Given the description of an element on the screen output the (x, y) to click on. 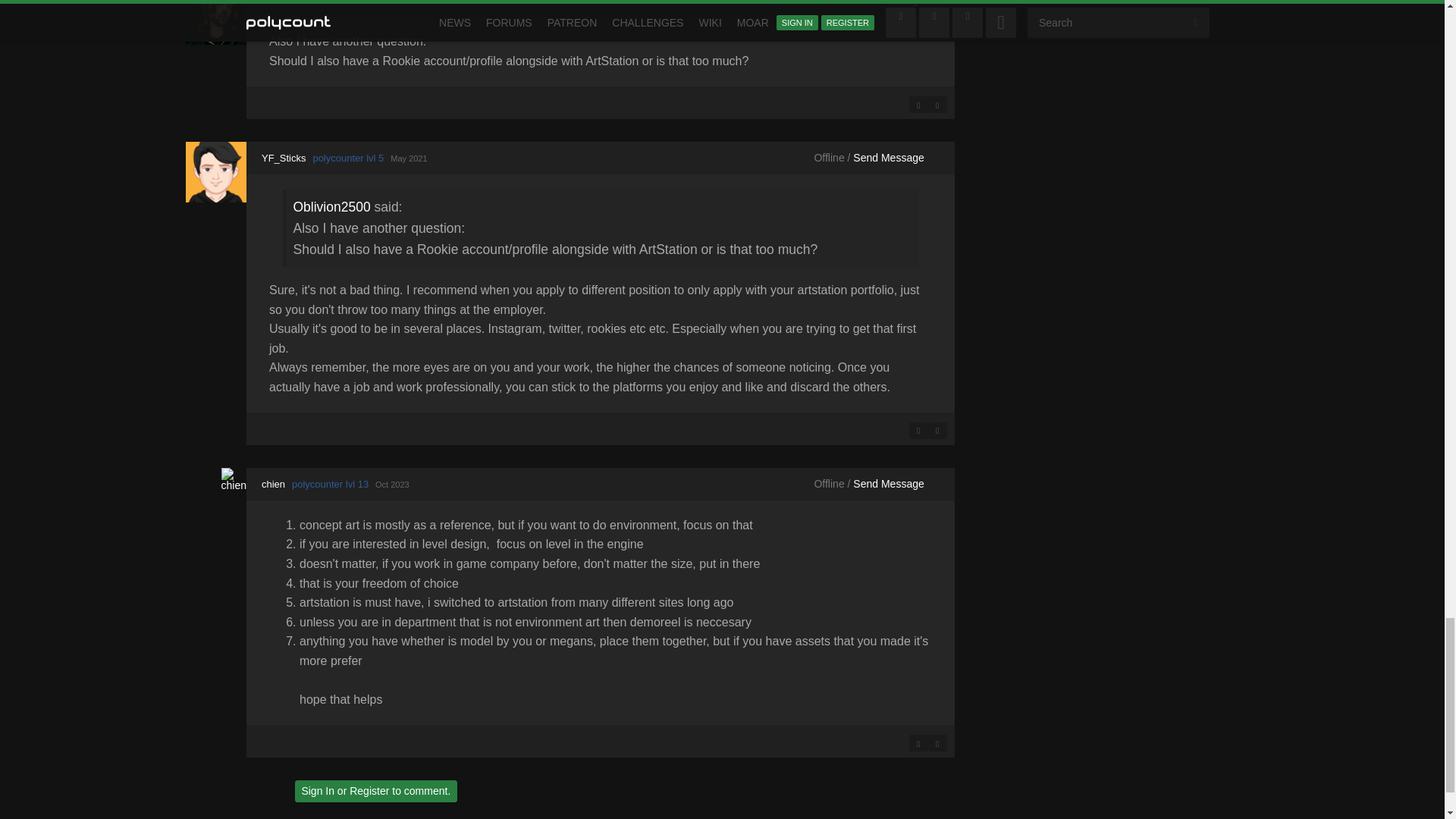
polycounter lvl 6 (361, 2)
Oblivion2500 (216, 22)
May 4, 2021 3:08PM (422, 2)
